Given the description of an element on the screen output the (x, y) to click on. 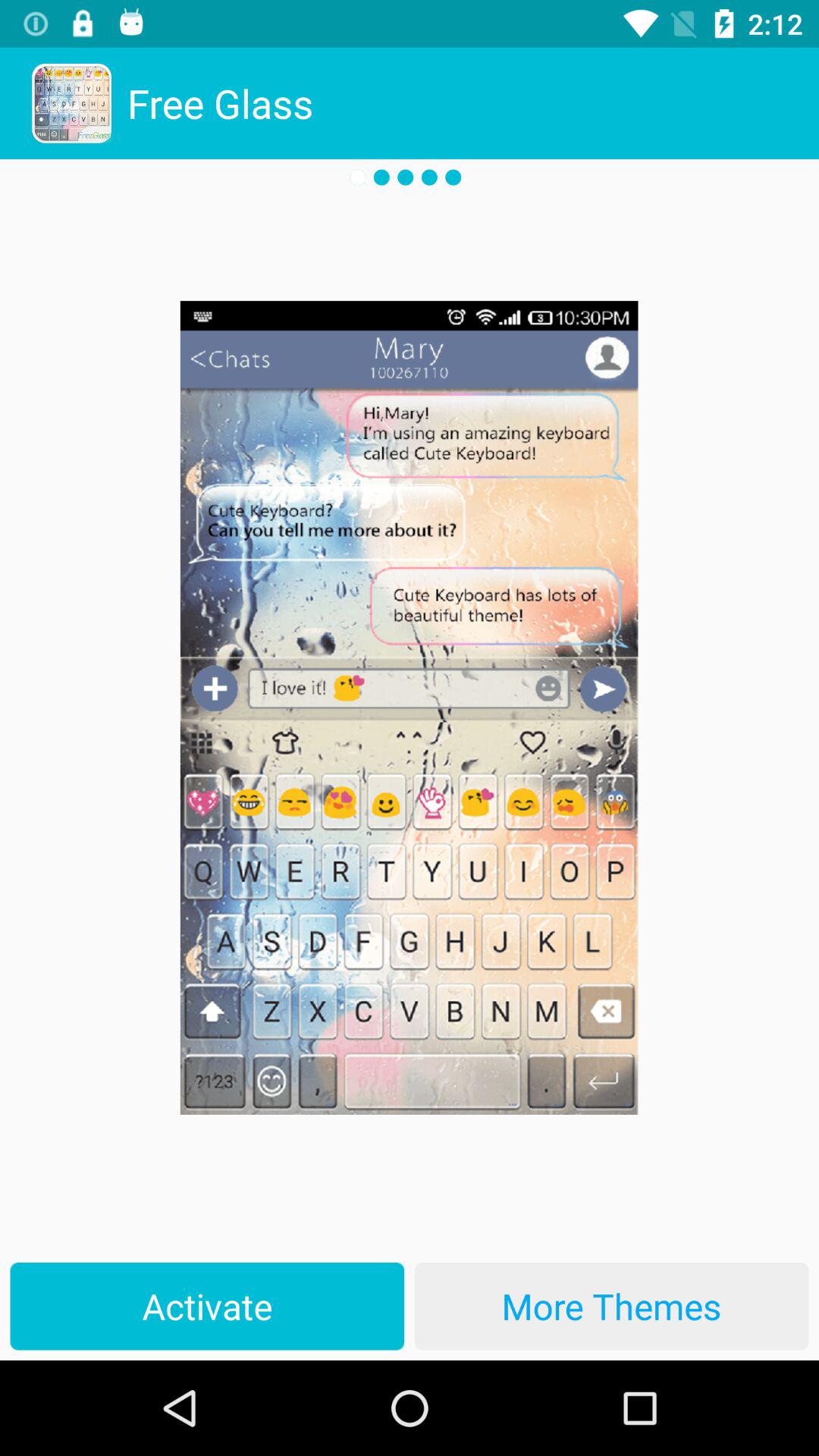
flip to the more themes icon (611, 1306)
